Given the description of an element on the screen output the (x, y) to click on. 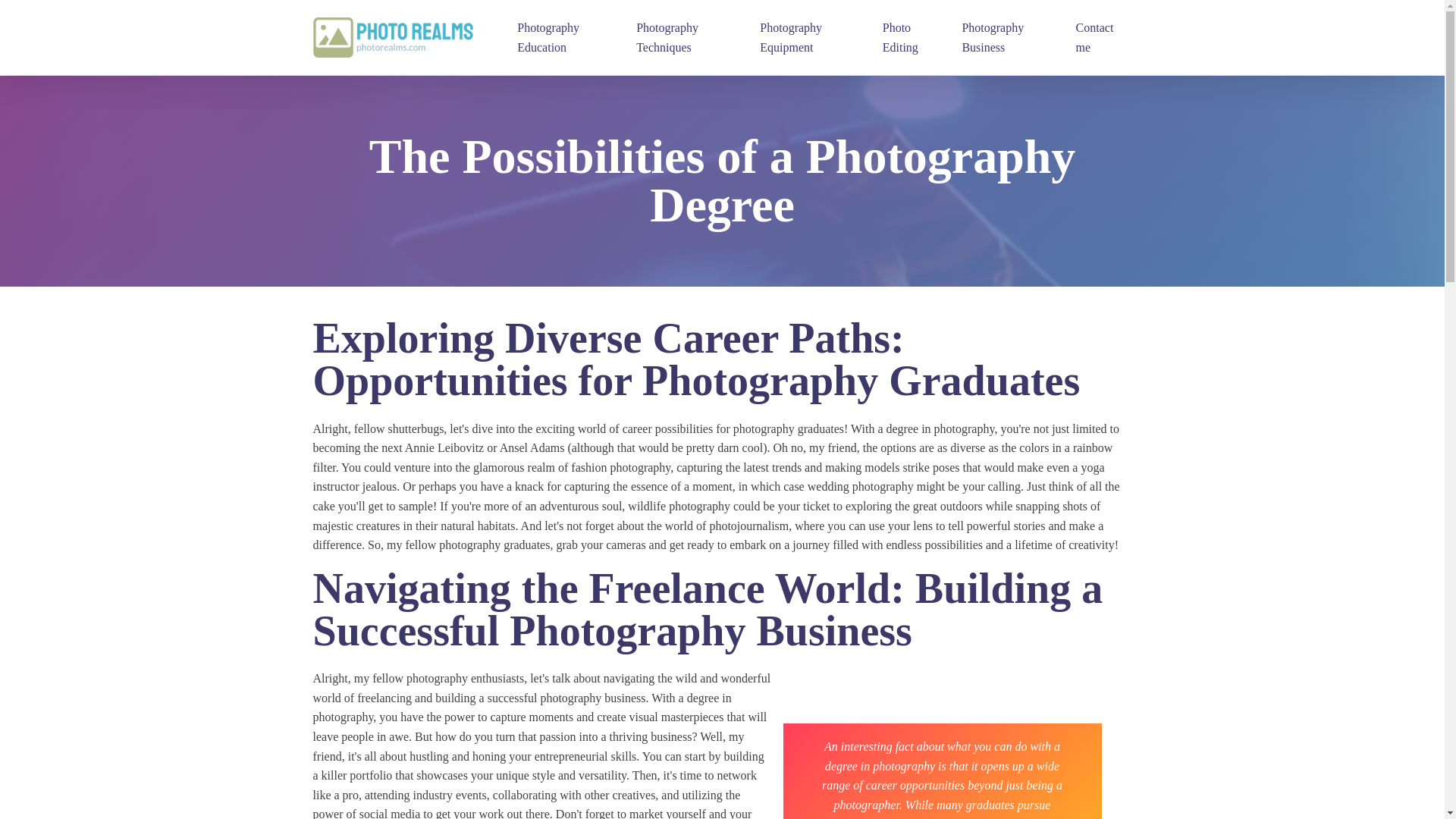
Photography Techniques (684, 37)
Photography Equipment (806, 37)
Contact me (1097, 37)
Photo Editing (909, 37)
Photography Education (563, 37)
Photography Business (1004, 37)
